Given the description of an element on the screen output the (x, y) to click on. 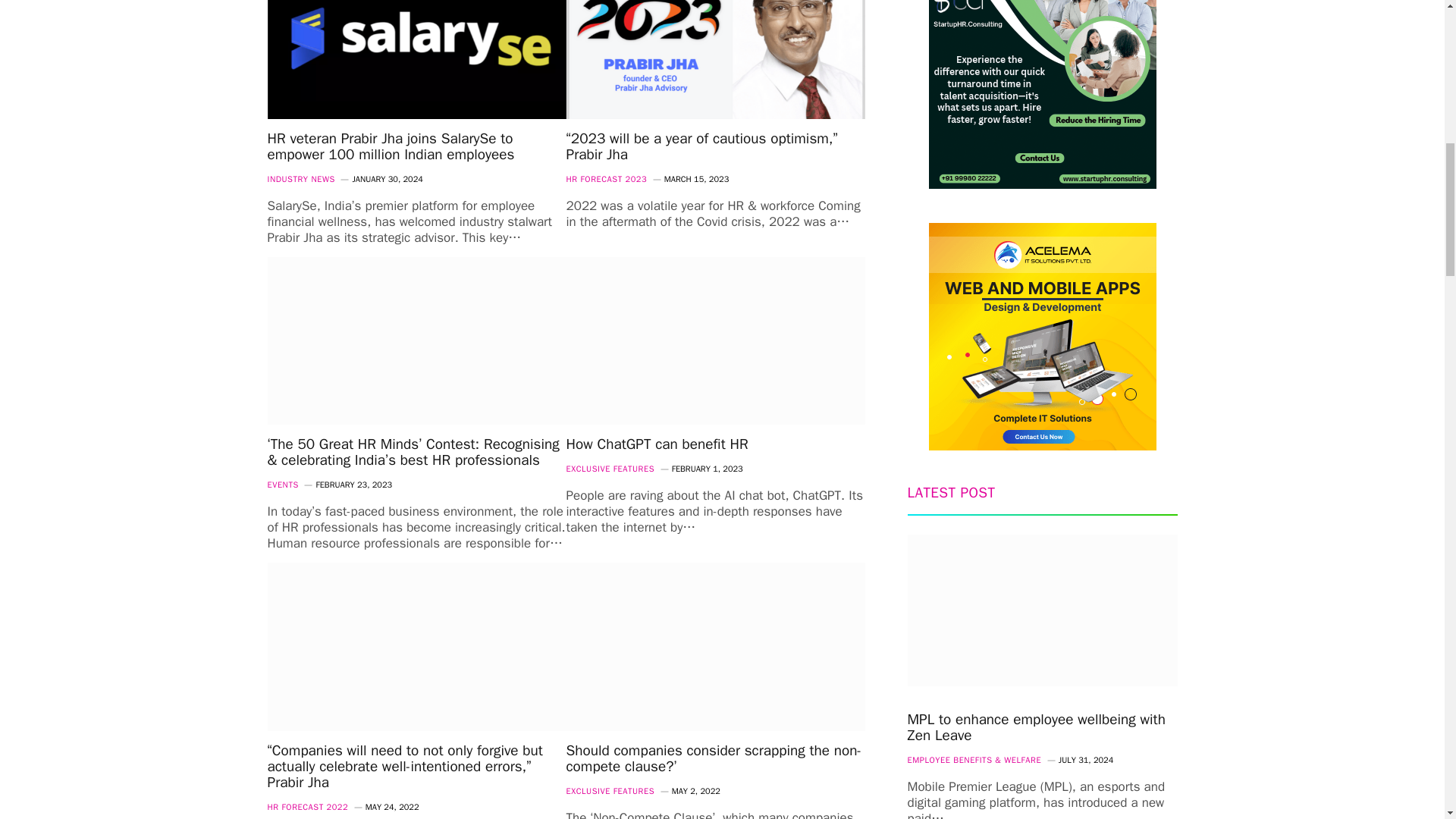
How ChatGPT can benefit HR (715, 341)
